Given the description of an element on the screen output the (x, y) to click on. 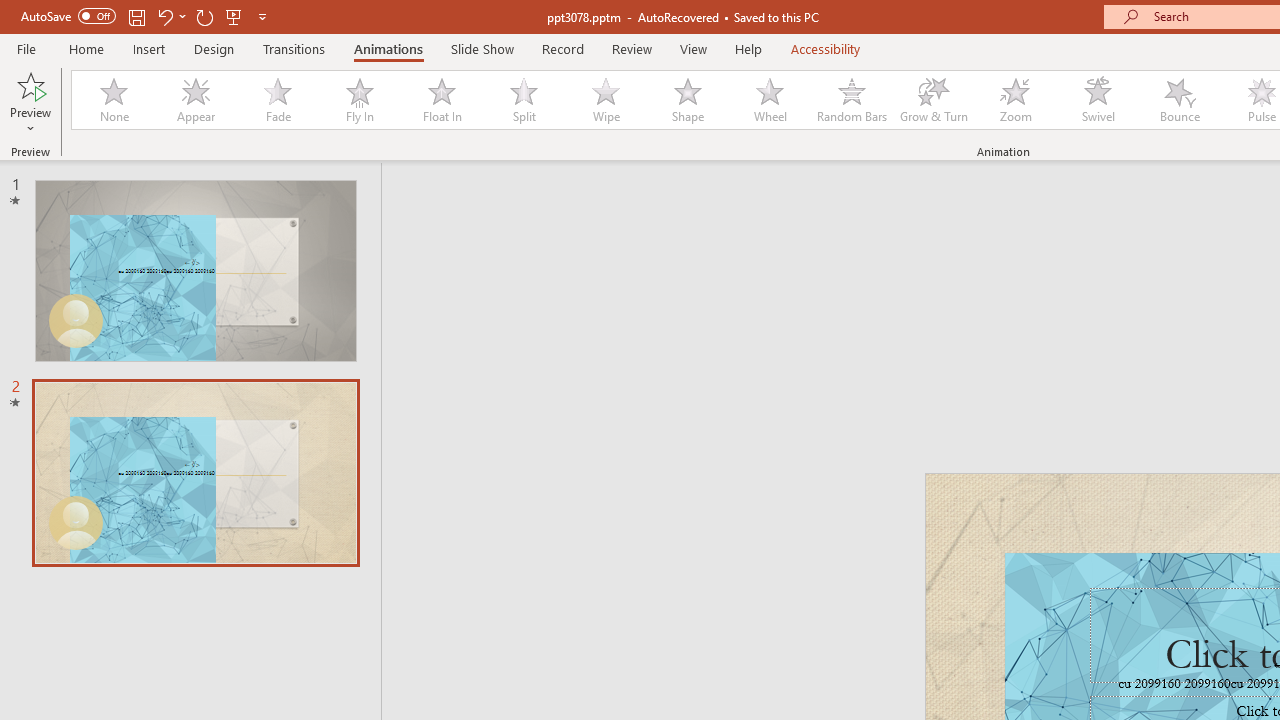
Random Bars (852, 100)
Split (523, 100)
None (113, 100)
